Given the description of an element on the screen output the (x, y) to click on. 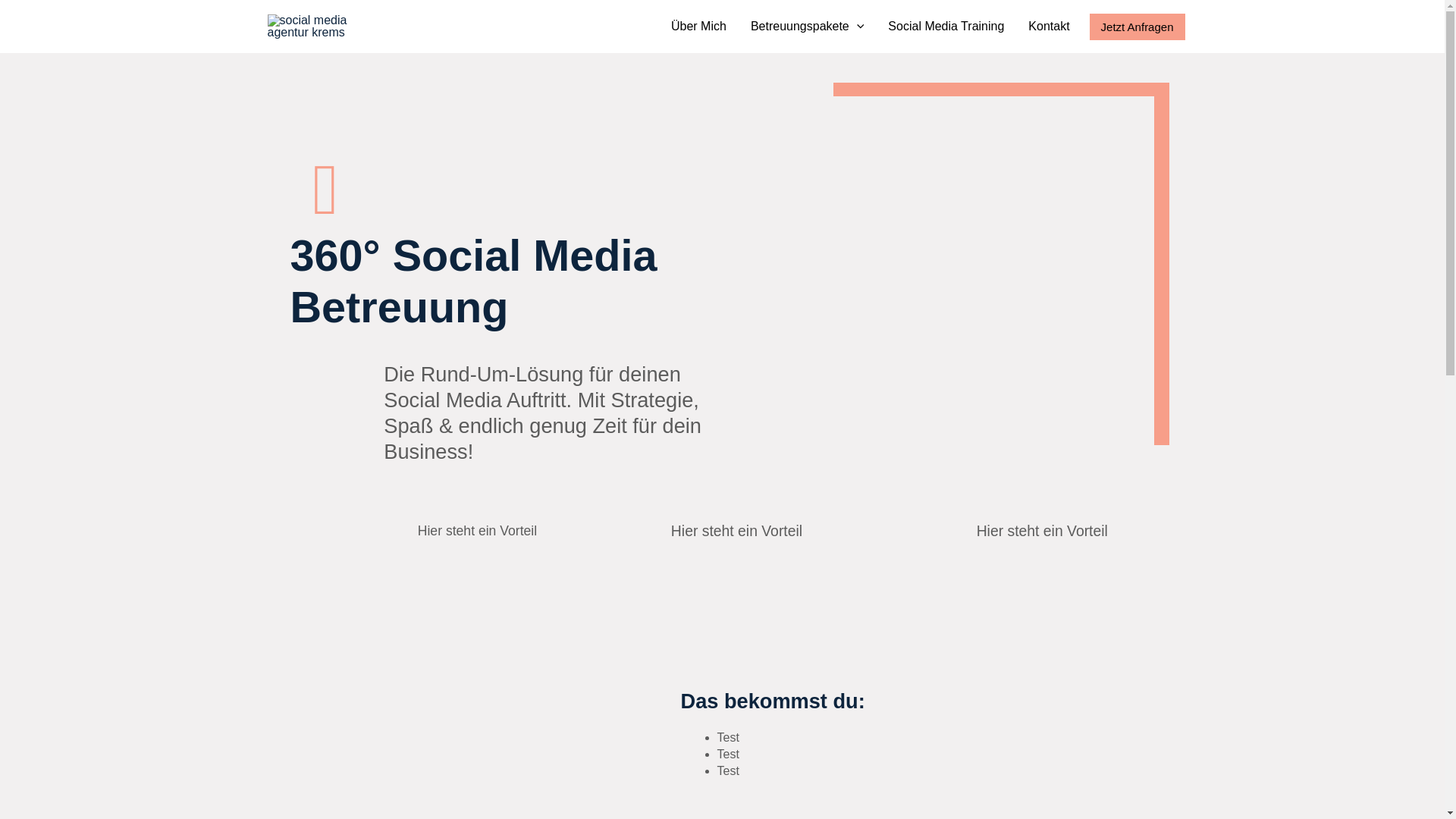
Betreuungspakete Element type: text (806, 26)
Jetzt Anfragen Element type: text (1137, 26)
Social Media Training Element type: text (945, 26)
Kontakt Element type: text (1048, 26)
